Given the description of an element on the screen output the (x, y) to click on. 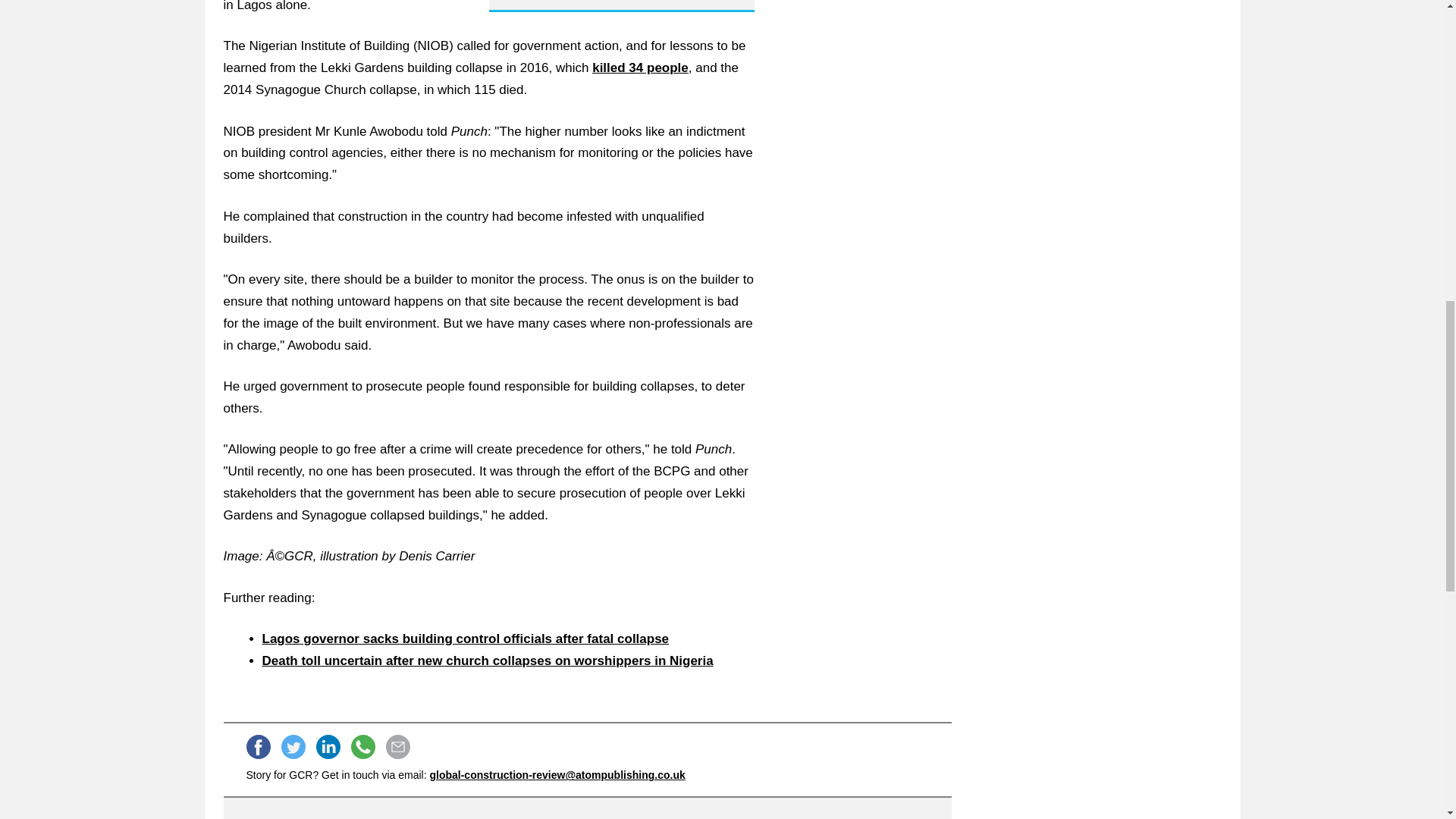
Share on LinkedIn (327, 746)
Share on Facebook (257, 746)
Tweet (292, 746)
Share on WhatsApp (362, 746)
Send email (397, 746)
